Given the description of an element on the screen output the (x, y) to click on. 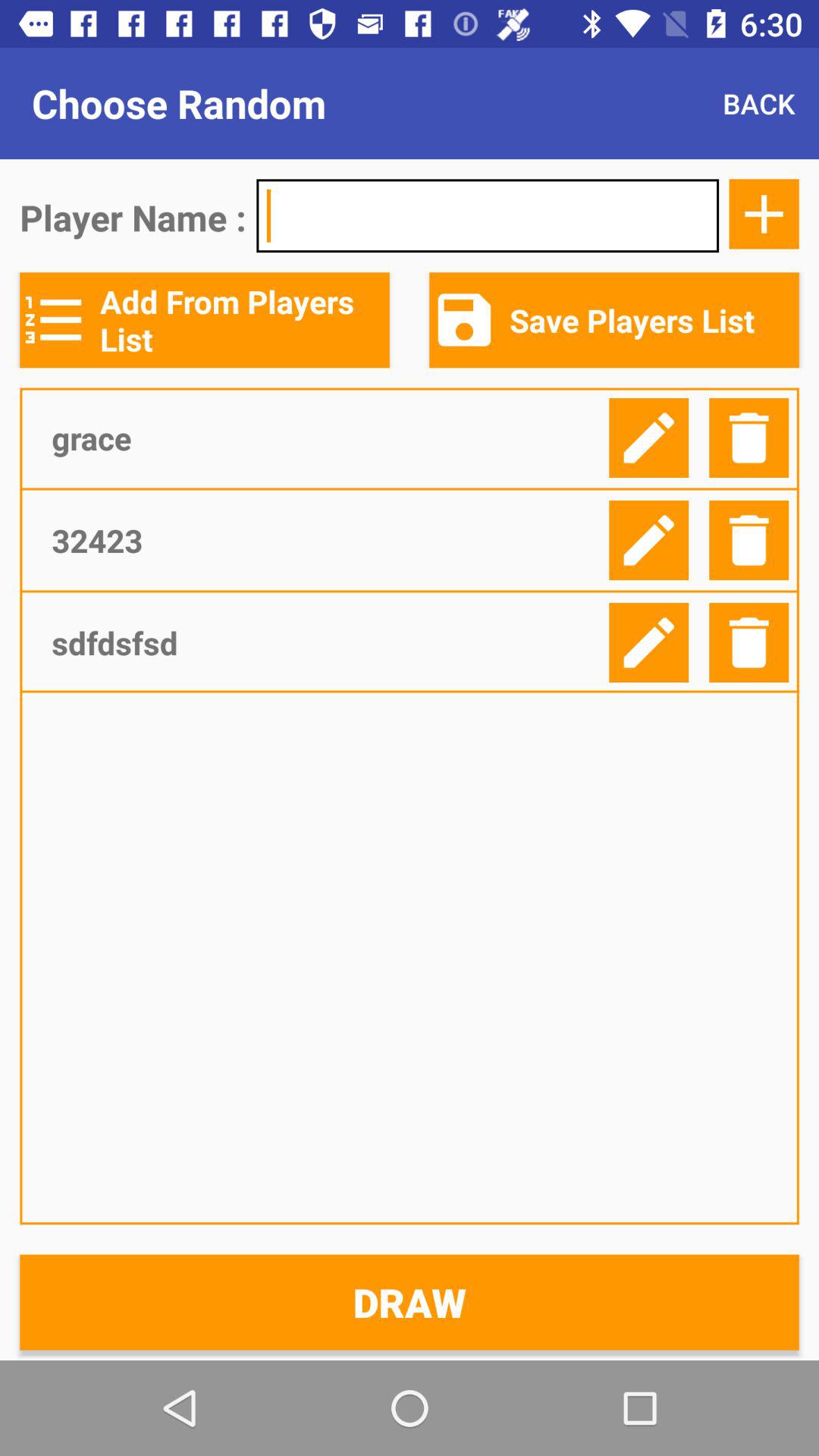
edit player (648, 642)
